Given the description of an element on the screen output the (x, y) to click on. 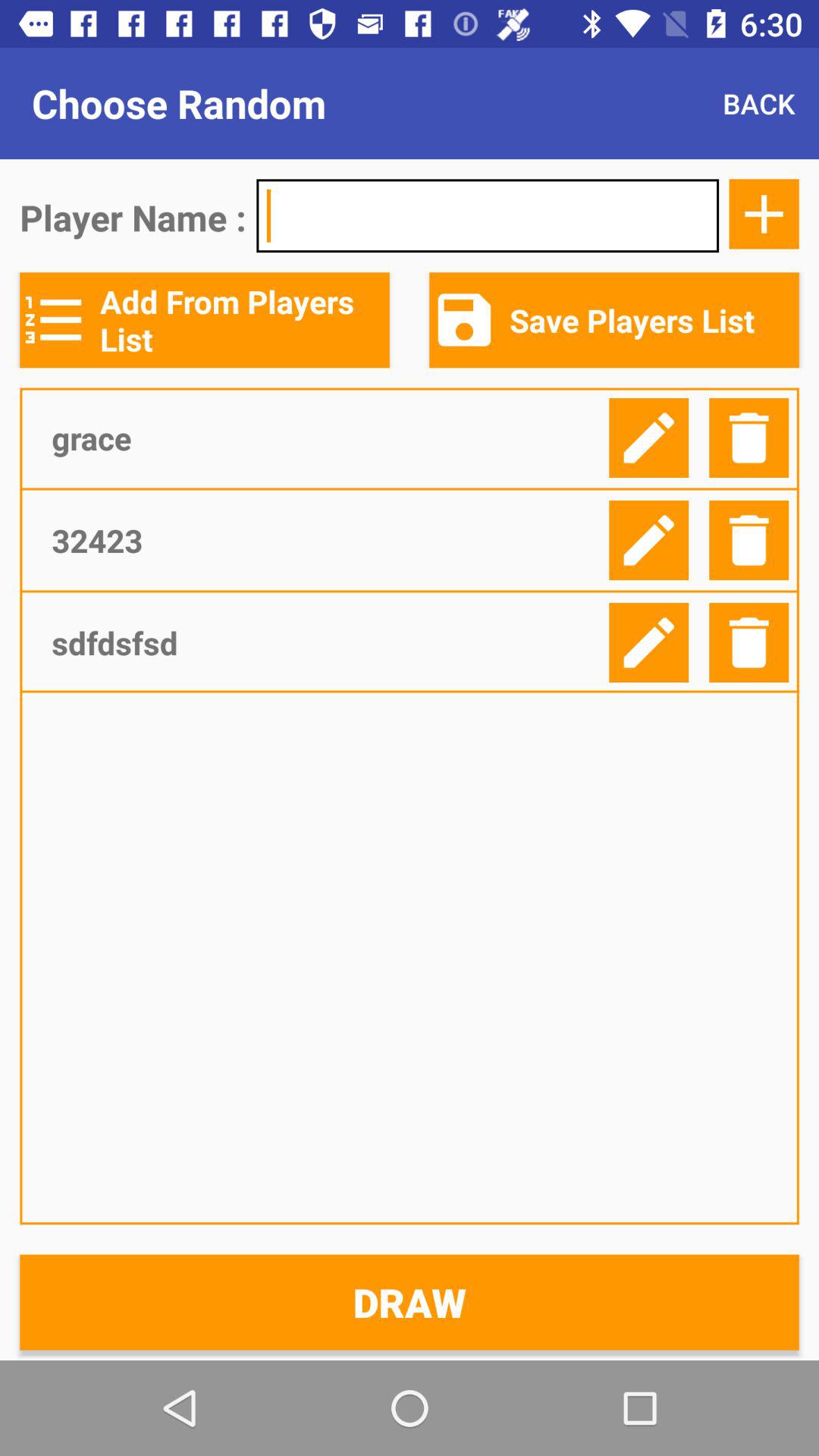
edit player (648, 642)
